Given the description of an element on the screen output the (x, y) to click on. 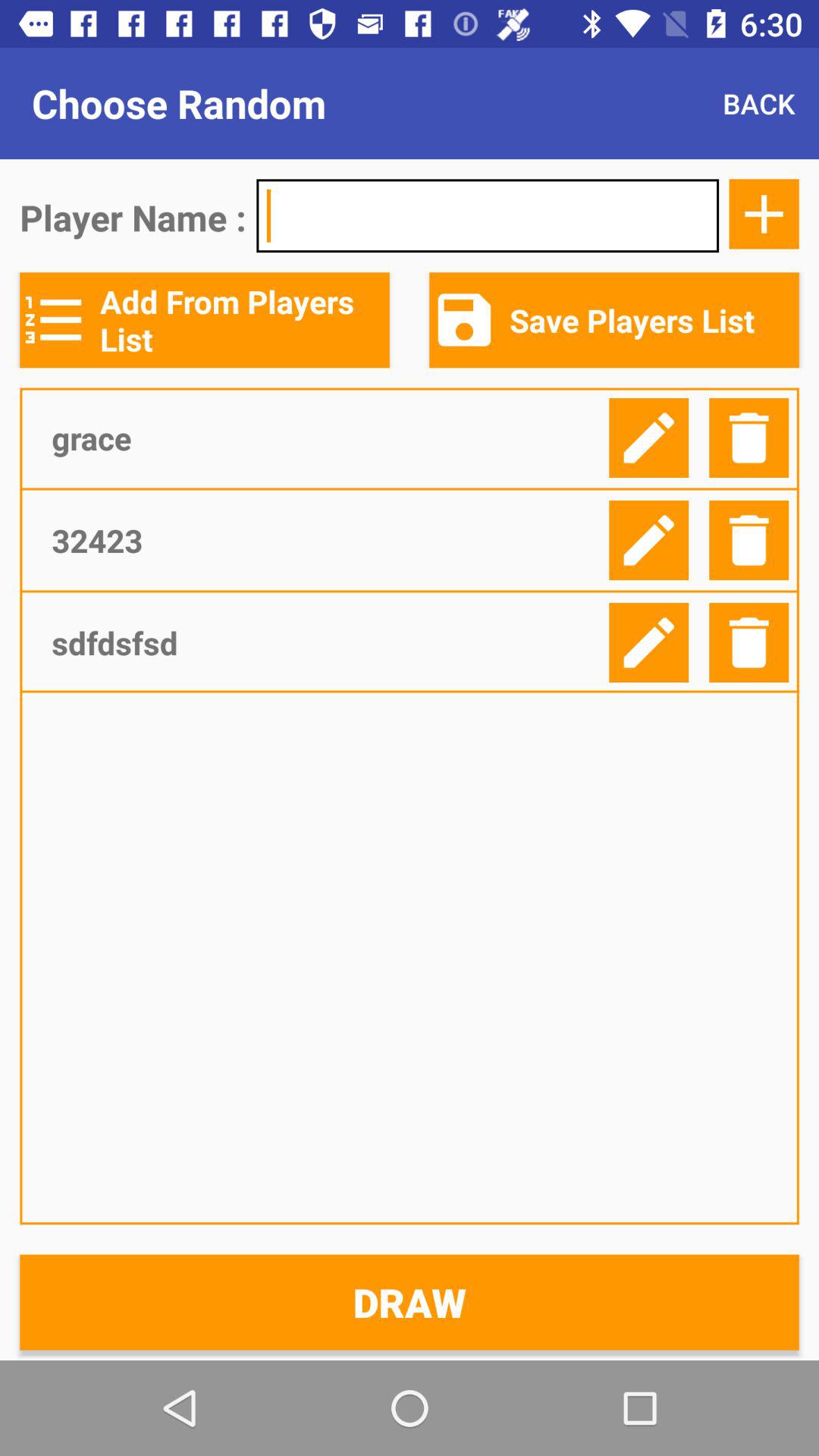
edit player (648, 642)
